Given the description of an element on the screen output the (x, y) to click on. 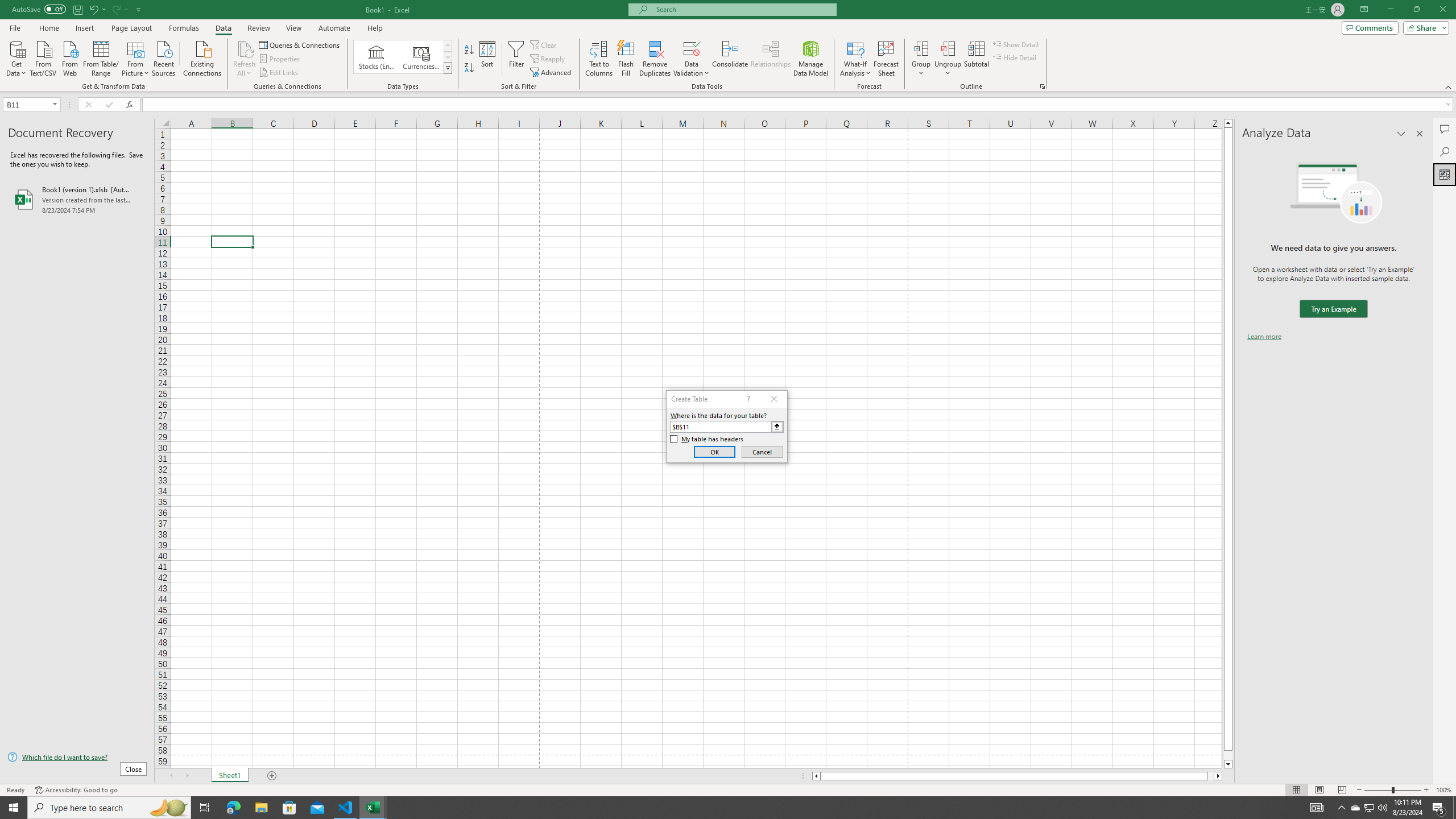
Sort... (487, 58)
Data Validation... (691, 48)
AutoSave (38, 9)
Properties (280, 58)
Sort Z to A (469, 67)
Refresh All (244, 48)
Relationships (770, 58)
